Given the description of an element on the screen output the (x, y) to click on. 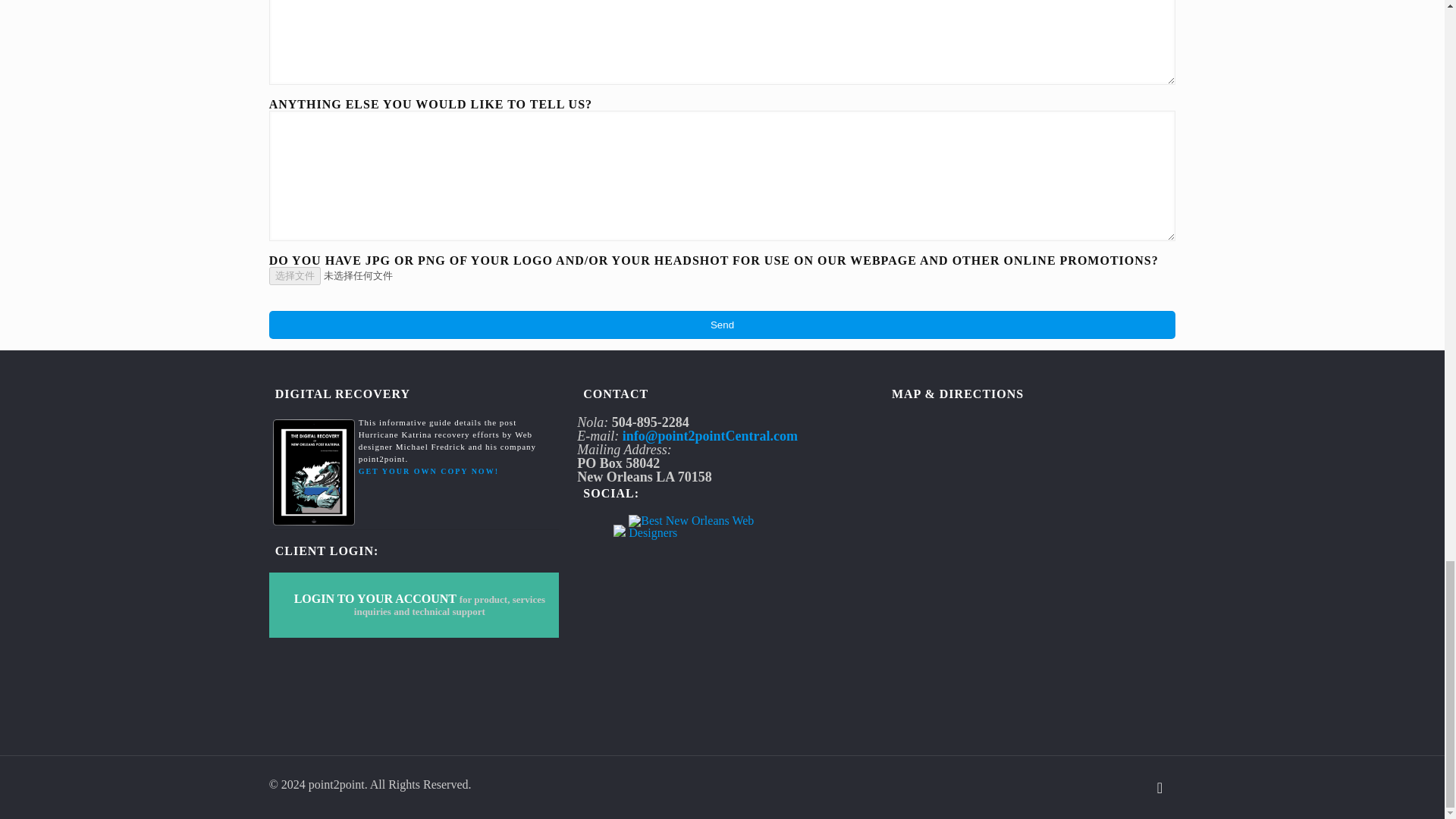
Send (722, 325)
